Given the description of an element on the screen output the (x, y) to click on. 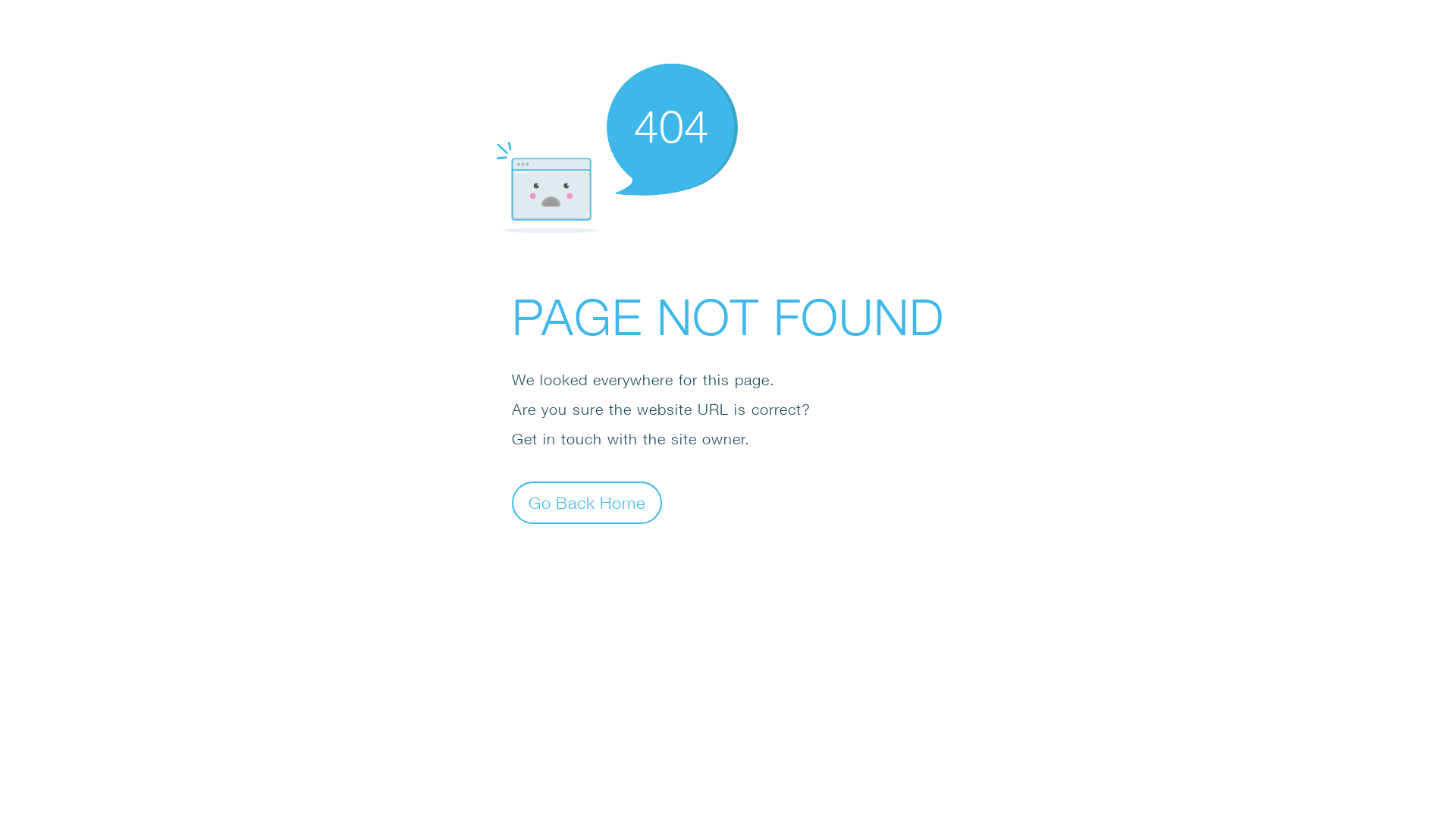
Go Back Home Element type: text (586, 502)
